Given the description of an element on the screen output the (x, y) to click on. 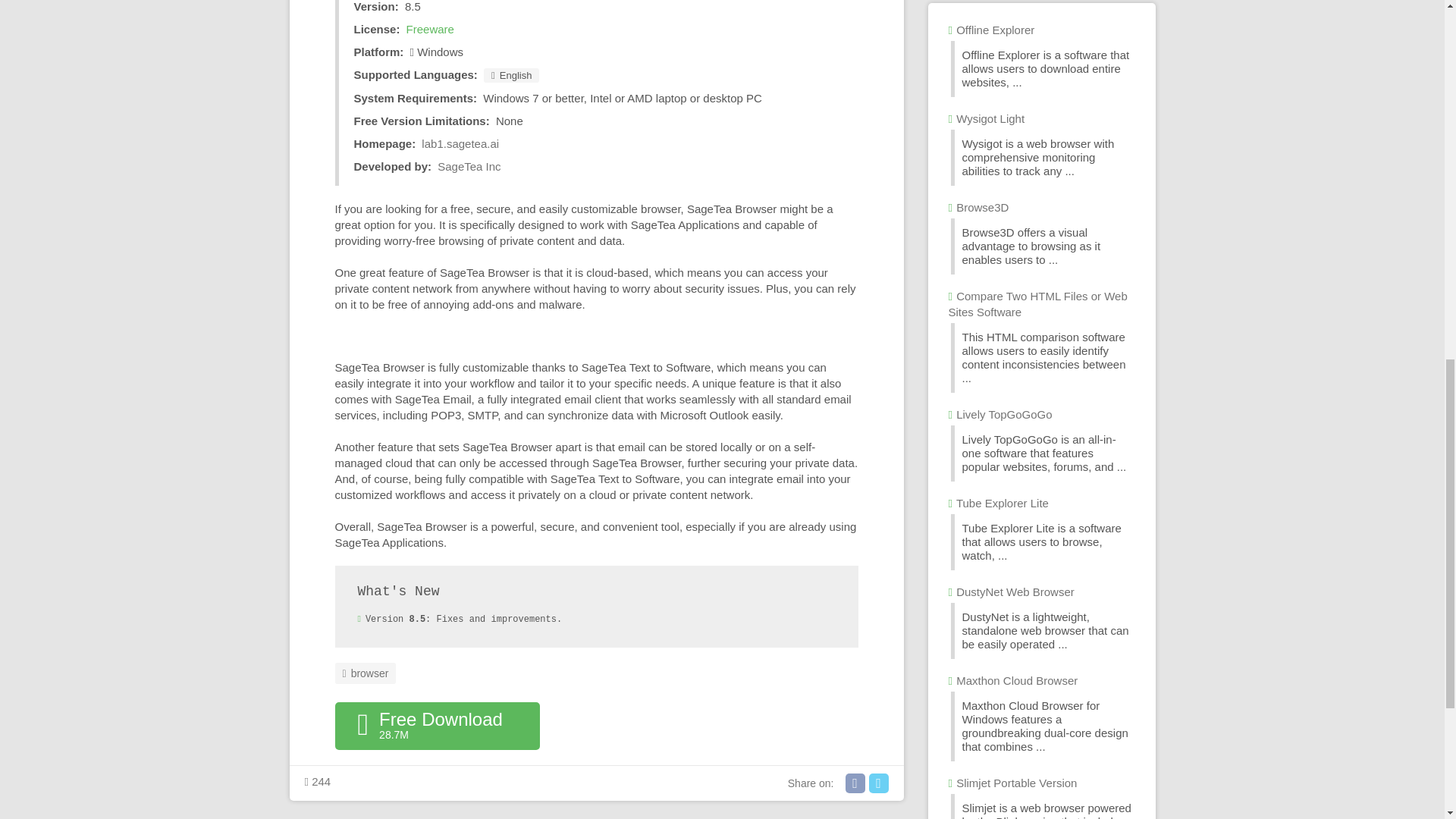
Download SageTea Browser 8.5 (437, 726)
